Given the description of an element on the screen output the (x, y) to click on. 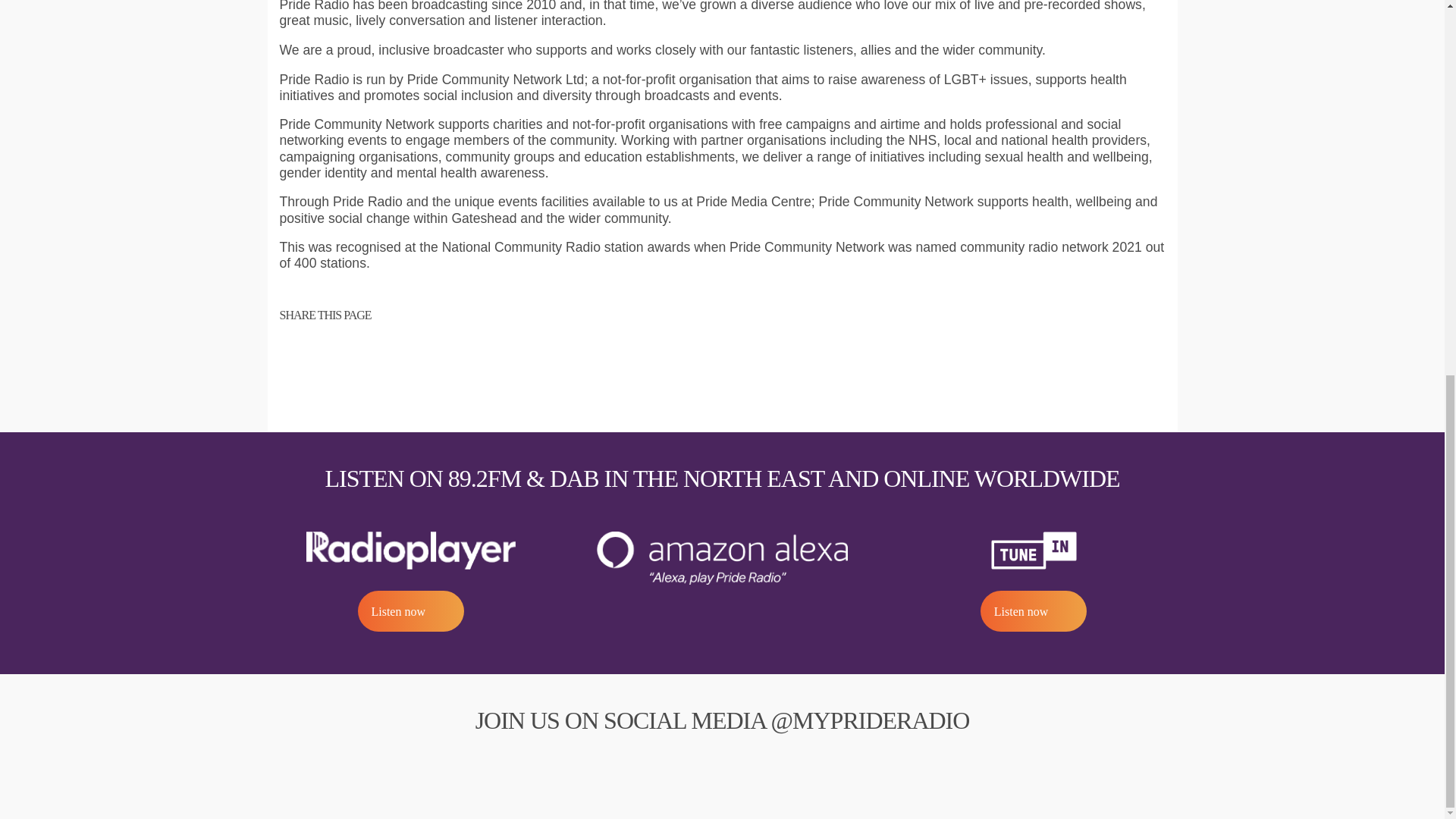
Instagram (722, 760)
Contact the studio on WhatsApp (1402, 86)
Twitter (775, 760)
Contact the studio on WhatsApp (1402, 86)
Listen now (1032, 610)
Listen now (411, 610)
Facebook (668, 760)
